Given the description of an element on the screen output the (x, y) to click on. 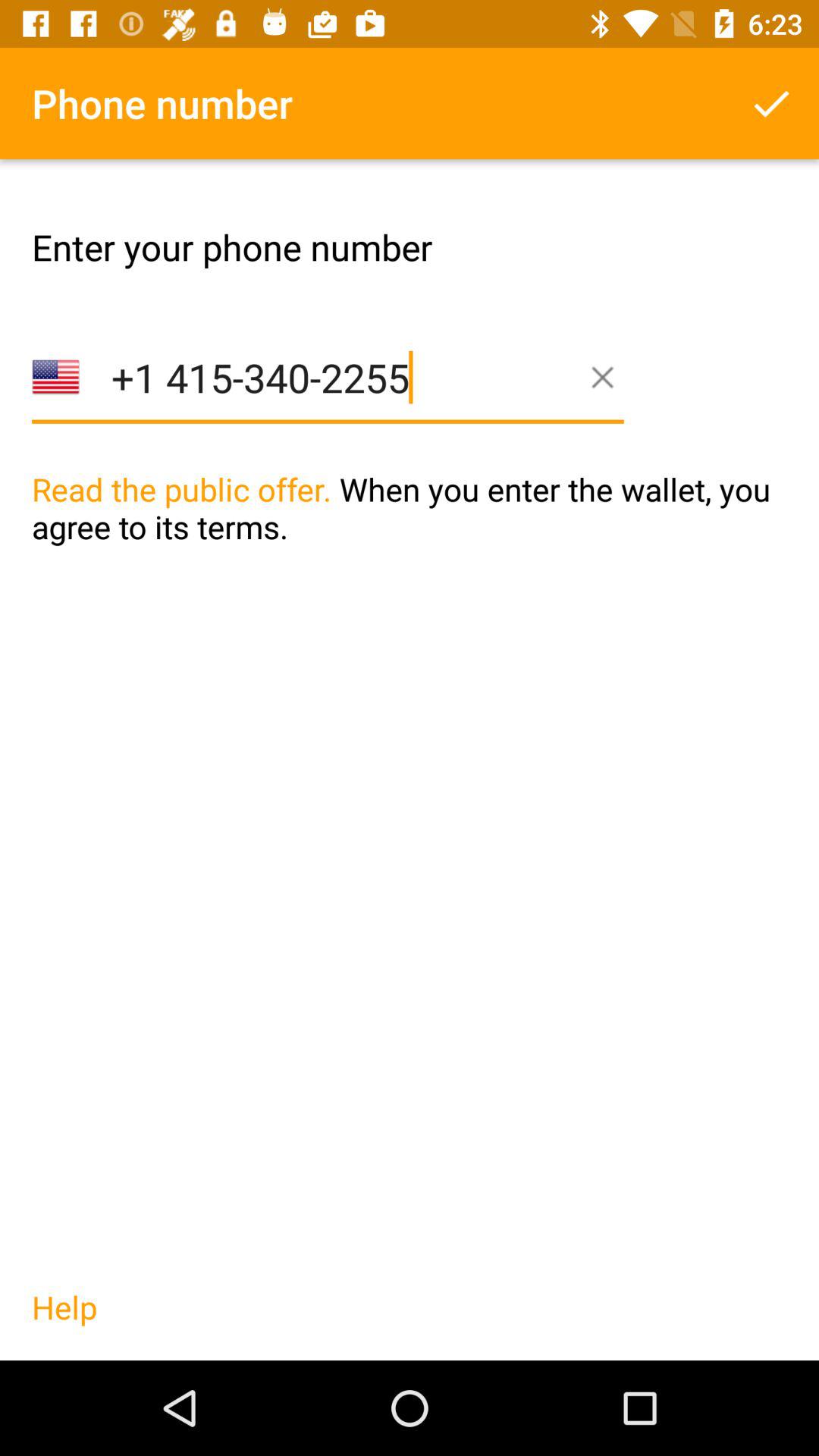
choose the read the public icon (409, 539)
